Given the description of an element on the screen output the (x, y) to click on. 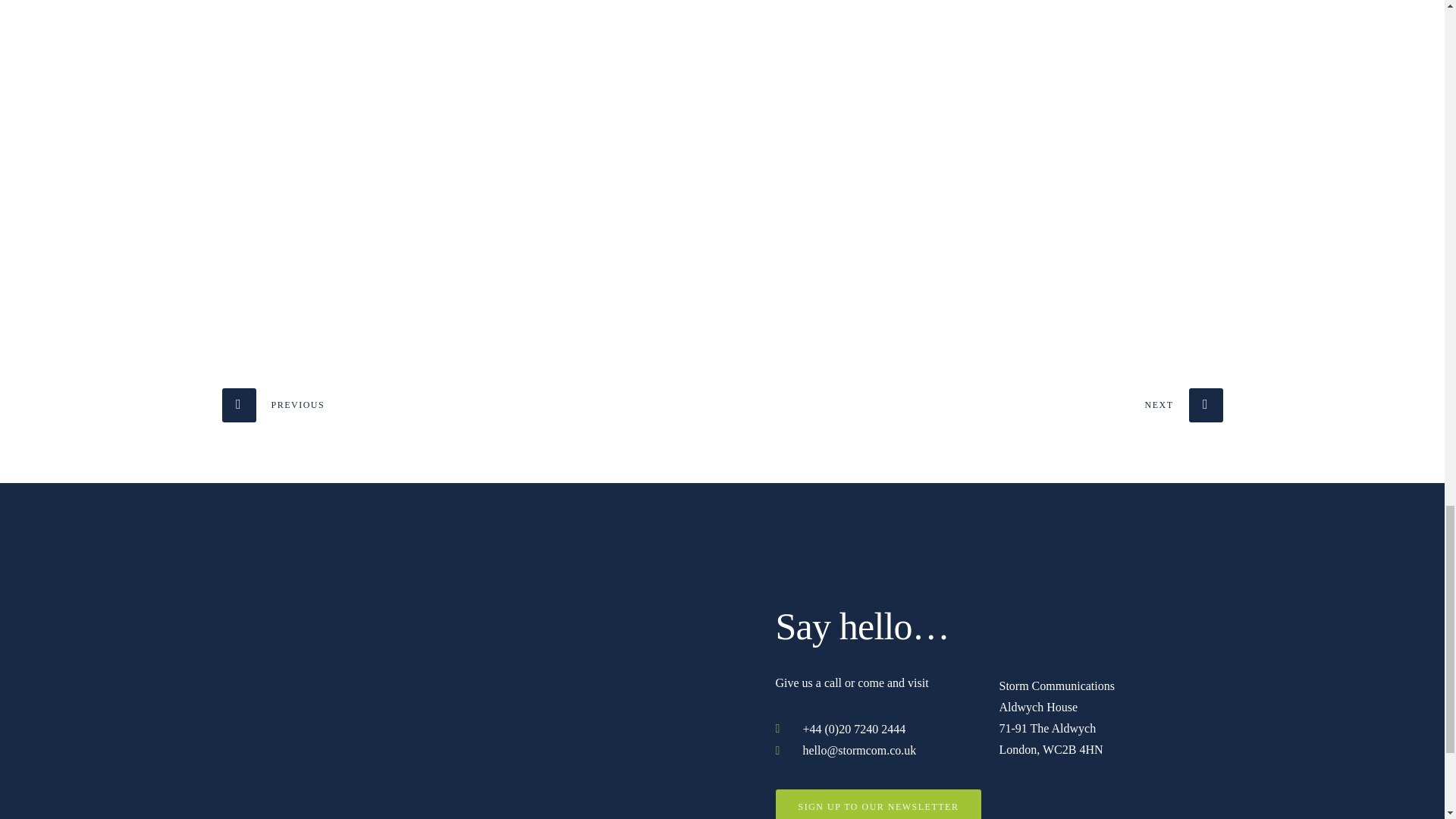
PREVIOUS (272, 405)
NEXT (1183, 405)
drinks-from-the-dram-1 (721, 165)
drinks-from-the-dram-2 (1061, 165)
drinks-from-the-dram-3 (384, 165)
